Given the description of an element on the screen output the (x, y) to click on. 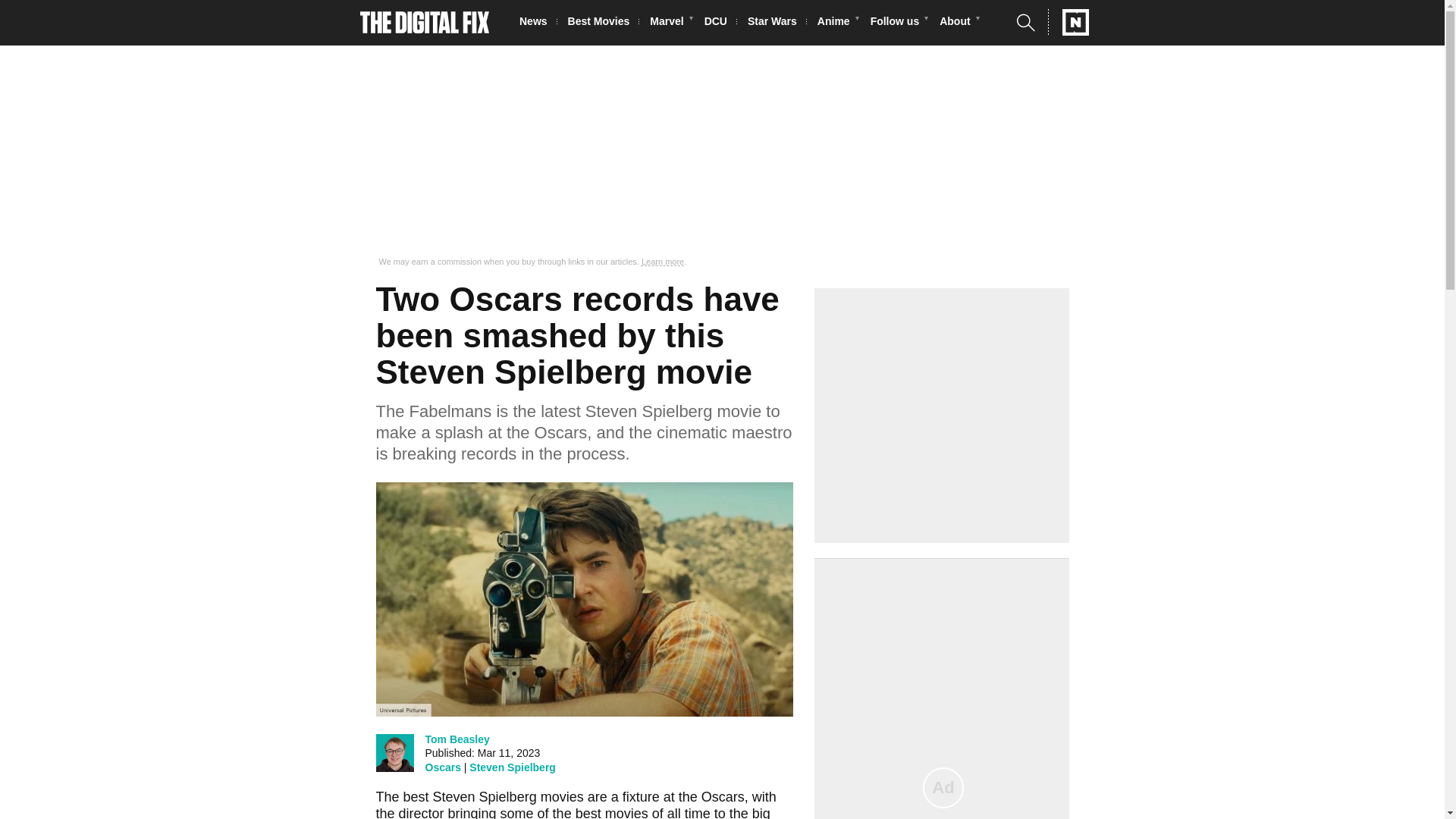
Learn more (663, 261)
Star Wars News (777, 22)
Star Wars (777, 22)
Best Movies (603, 22)
The Digital Fix (424, 22)
best movies (611, 812)
Follow us (899, 22)
best Steven Spielberg movies (493, 796)
Tom Beasley (457, 739)
Steven Spielberg (512, 767)
